Given the description of an element on the screen output the (x, y) to click on. 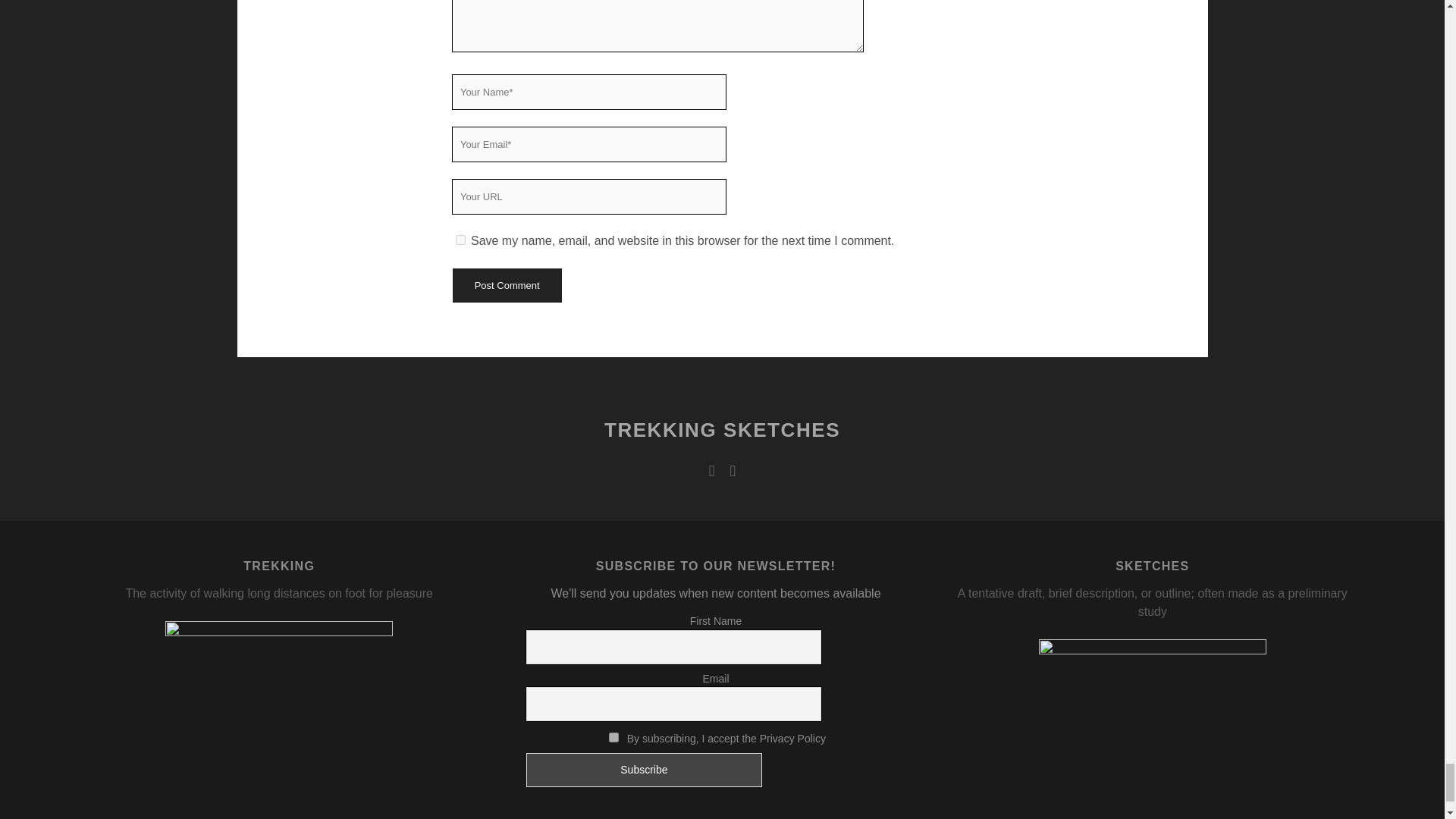
yes (459, 239)
Subscribe (643, 769)
on (613, 737)
Post Comment (505, 285)
